Given the description of an element on the screen output the (x, y) to click on. 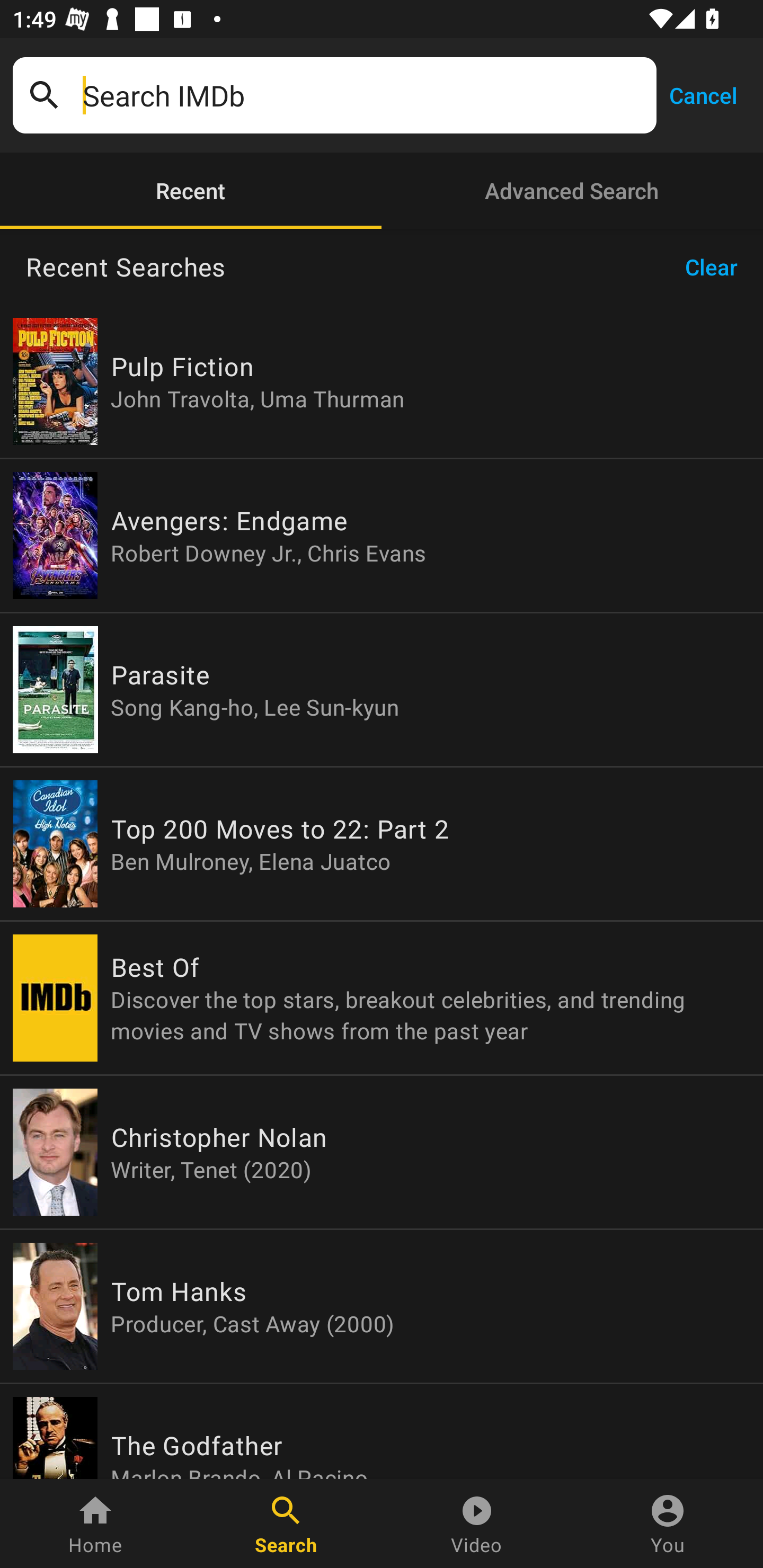
Cancel (703, 94)
Search IMDb (363, 95)
Advanced Search (572, 190)
Clear (717, 266)
Pulp Fiction John Travolta, Uma Thurman (381, 381)
Avengers: Endgame Robert Downey Jr., Chris Evans (381, 535)
Parasite Song Kang-ho, Lee Sun-kyun (381, 689)
Christopher Nolan Writer, Tenet (2020) (381, 1151)
Tom Hanks Producer, Cast Away (2000) (381, 1305)
The Godfather Marlon Brando, Al Pacino (381, 1431)
Home (95, 1523)
Video (476, 1523)
You (667, 1523)
